Given the description of an element on the screen output the (x, y) to click on. 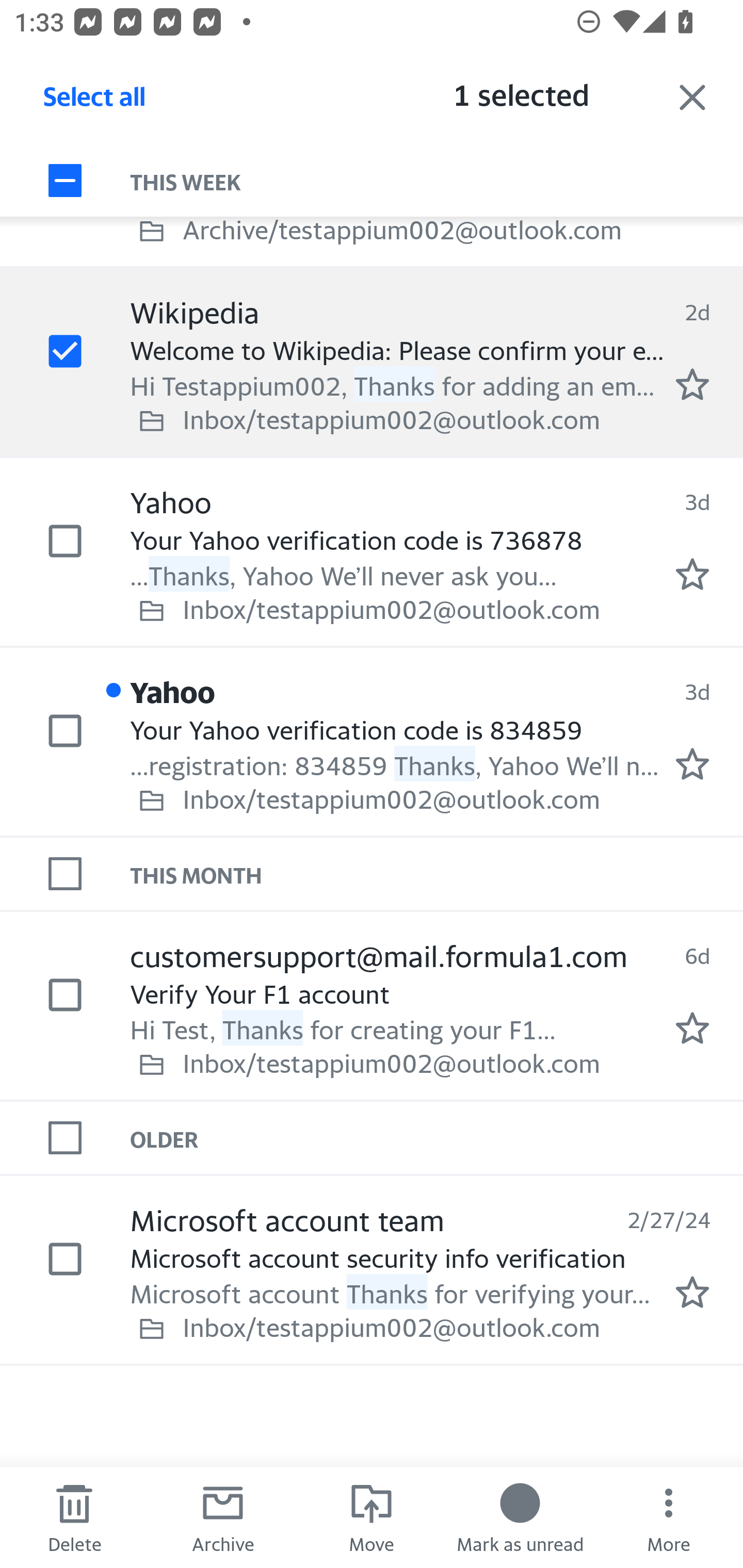
Exit selection mode (692, 97)
Select all (94, 101)
Mark as starred. (692, 384)
Mark as starred. (692, 574)
Mark as starred. (692, 764)
THIS MONTH (436, 873)
Mark as starred. (692, 1027)
OLDER (436, 1137)
Mark as starred. (692, 1291)
Delete (74, 1517)
Archive (222, 1517)
Move (371, 1517)
Mark as unread (519, 1517)
More (668, 1517)
